Given the description of an element on the screen output the (x, y) to click on. 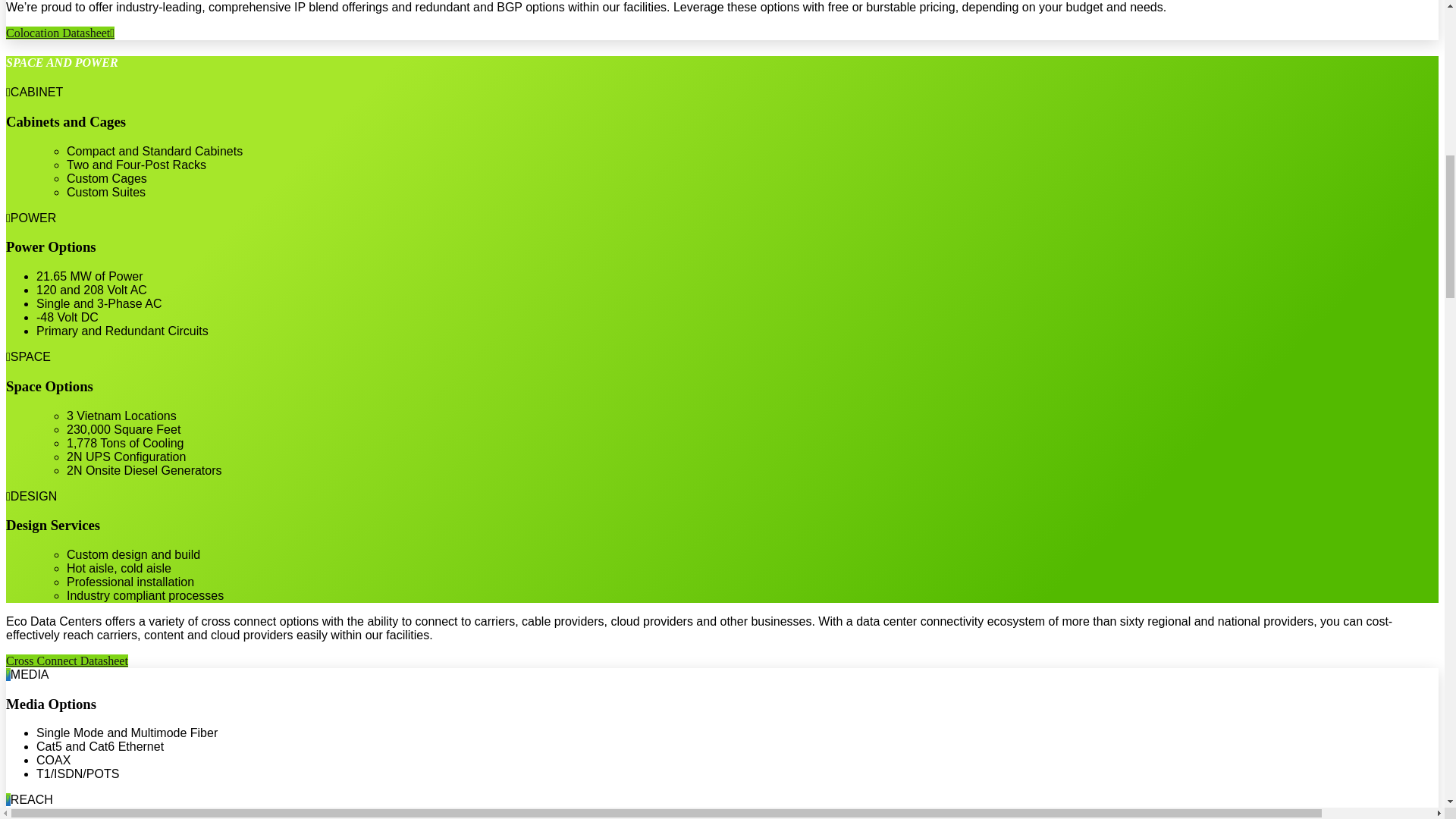
Colocation Datasheet (60, 32)
Cross Connect Datasheet (66, 660)
Cross Connect Datasheet (66, 660)
Colocation Datasheet (60, 32)
